Given the description of an element on the screen output the (x, y) to click on. 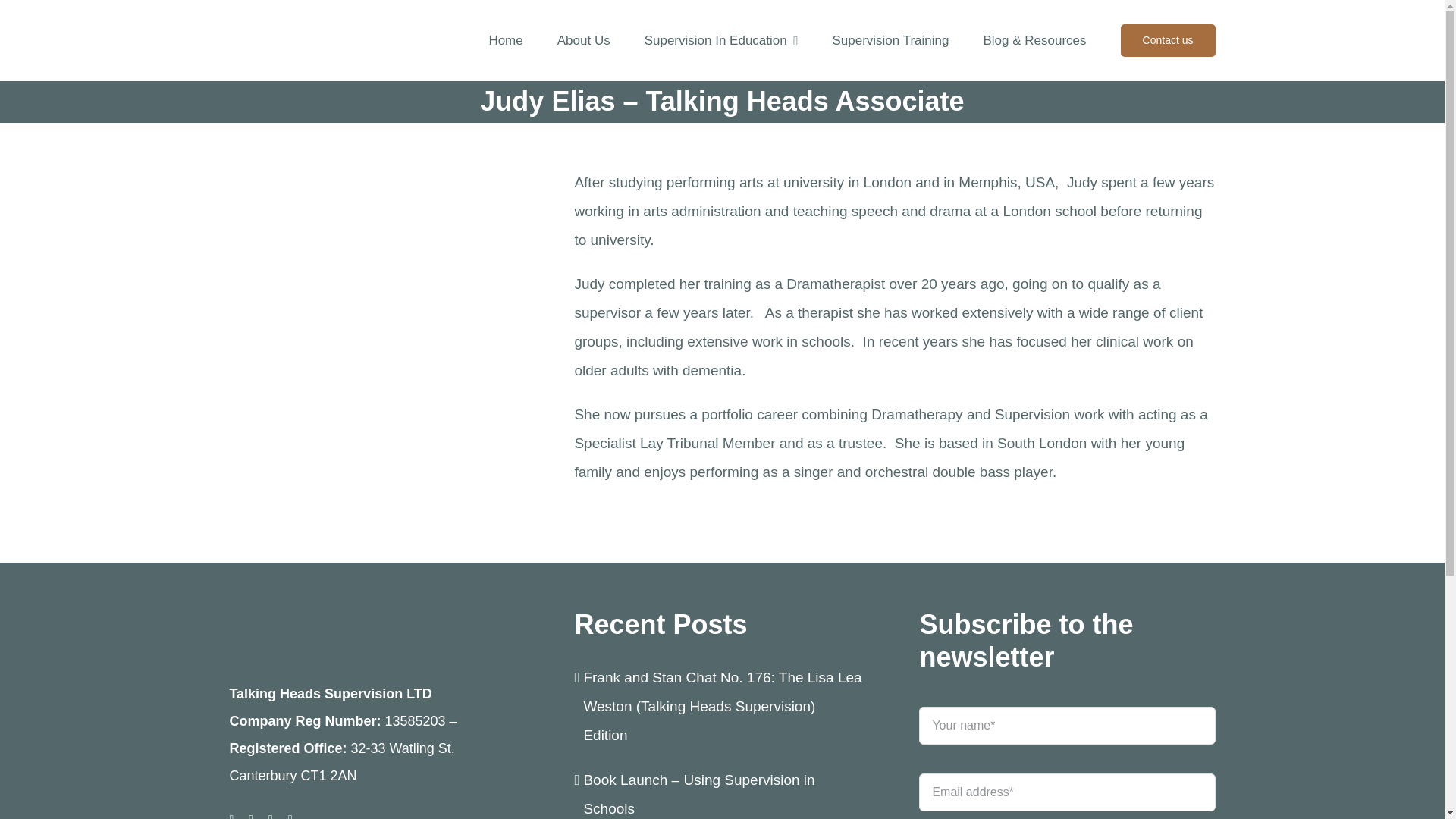
Supervision In Education (721, 40)
Contact us (1168, 40)
Judy-Elias-SQ (376, 316)
Submit (1066, 755)
Supervision Training (890, 40)
